Given the description of an element on the screen output the (x, y) to click on. 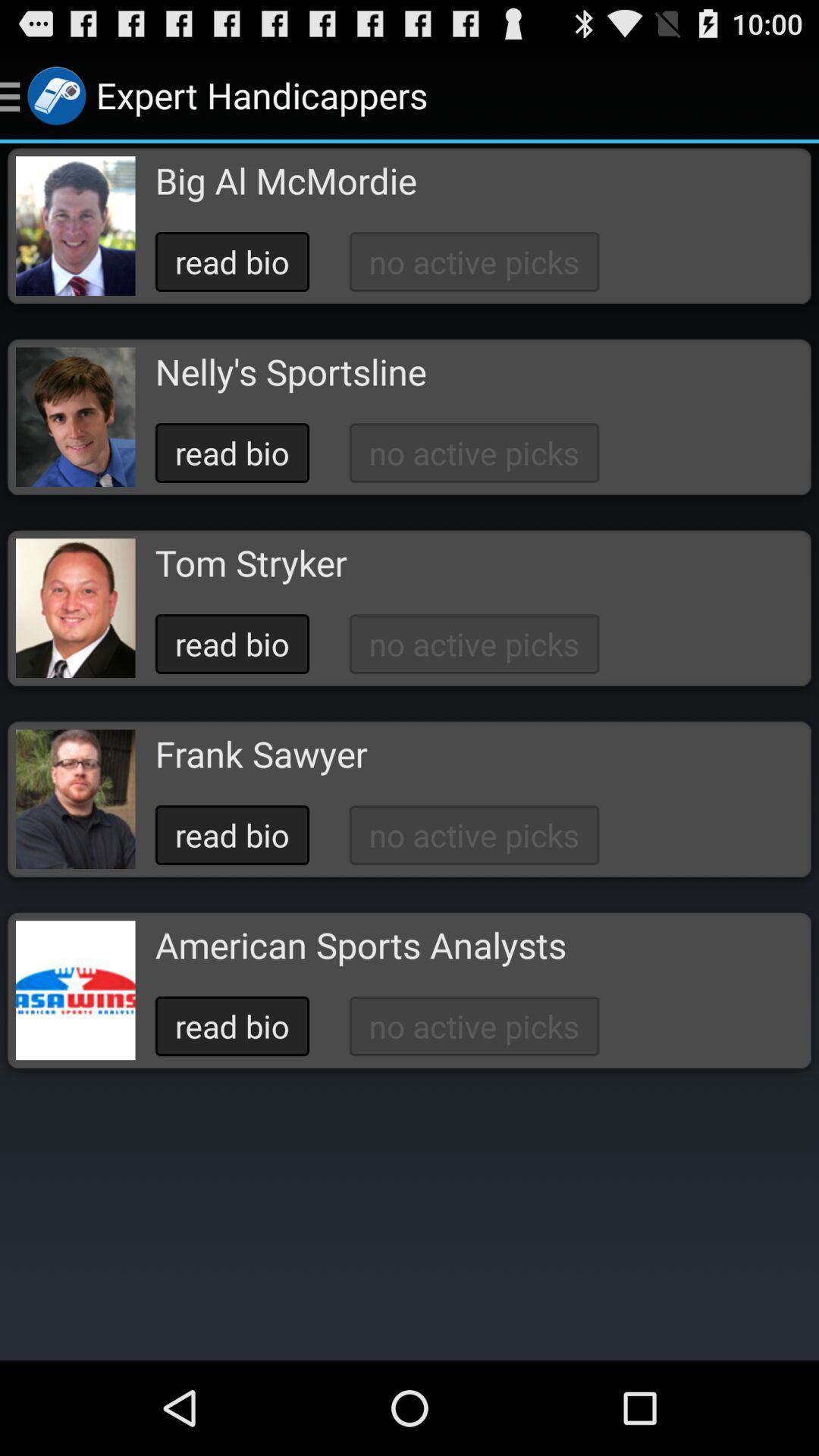
click tom stryker icon (250, 562)
